Given the description of an element on the screen output the (x, y) to click on. 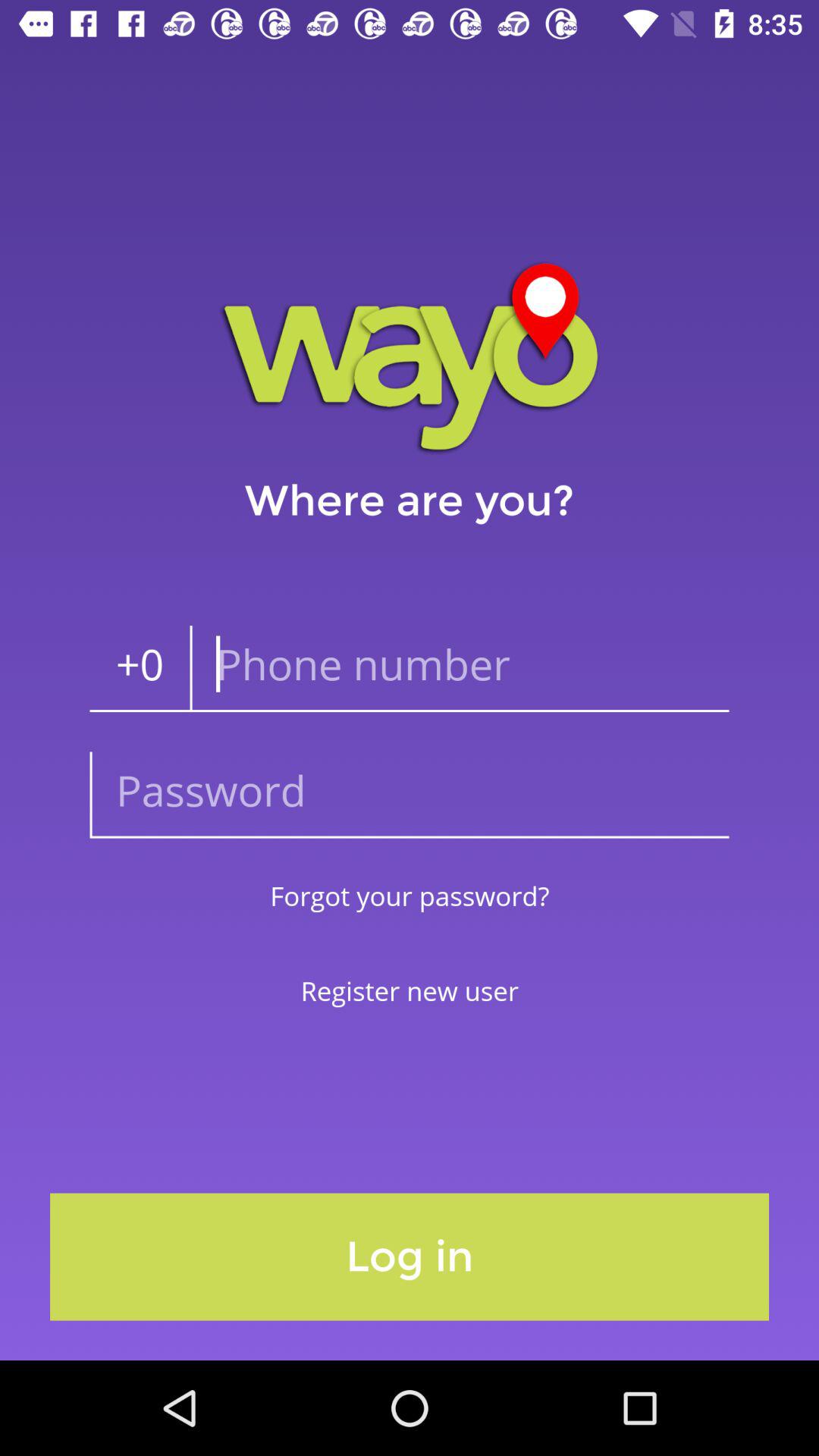
tap log in item (409, 1256)
